Given the description of an element on the screen output the (x, y) to click on. 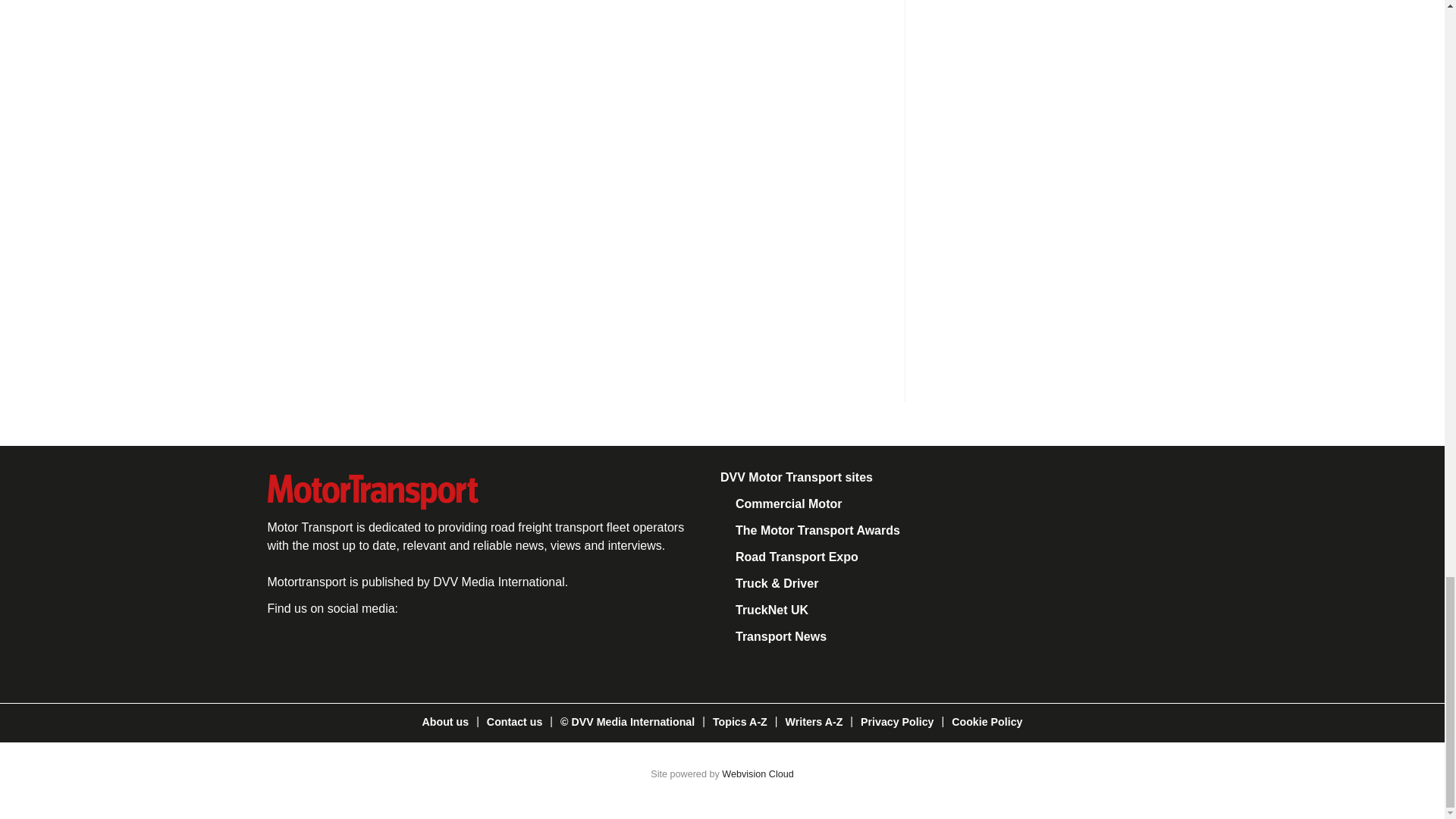
Connect with us on Linked in (387, 647)
Email us (438, 647)
Connect with us on Facebook (284, 647)
Connect with us on Twitter (336, 647)
